Given the description of an element on the screen output the (x, y) to click on. 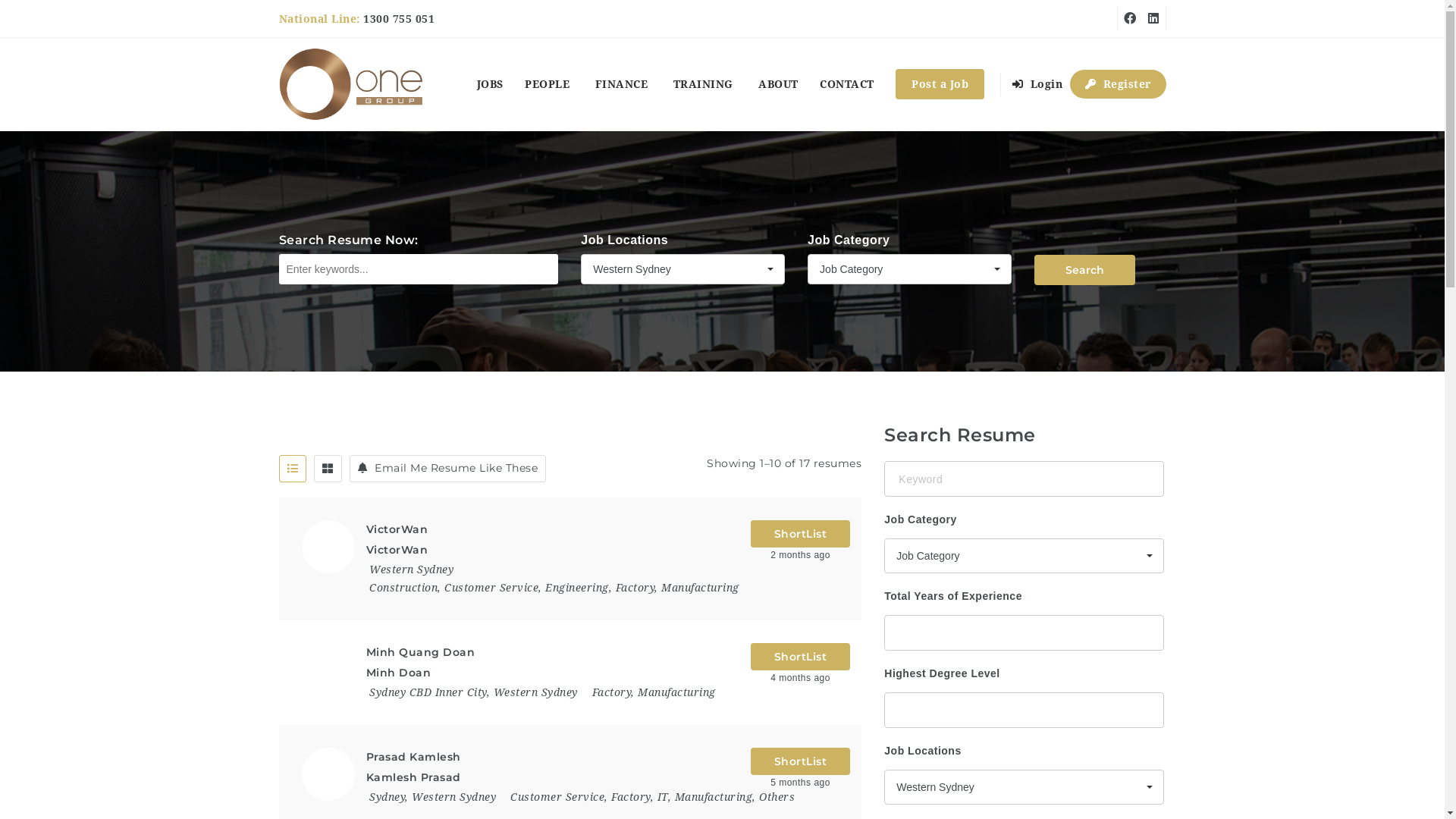
PEOPLE Element type: text (548, 83)
Kamlesh Prasad Element type: text (412, 777)
Western Sydney Element type: text (682, 269)
Others Element type: text (776, 796)
Factory Element type: text (610, 692)
ShortList Element type: text (800, 761)
IT Element type: text (661, 796)
Construction Element type: text (403, 587)
FINANCE Element type: text (622, 83)
VictorWan Element type: text (396, 529)
JOBS Element type: text (489, 83)
Engineering Element type: text (576, 587)
Post a Job Element type: text (939, 84)
People | Finance | Training Element type: hover (351, 83)
Factory Element type: text (630, 796)
Manufacturing Element type: text (713, 796)
Job Category Element type: text (909, 269)
CONTACT Element type: text (846, 83)
TRAINING Element type: text (705, 83)
Manufacturing Element type: text (676, 692)
Western Sydney Element type: text (1024, 786)
Manufacturing Element type: text (700, 587)
Job Category Element type: text (1024, 555)
Factory Element type: text (635, 587)
Sydney Element type: text (386, 796)
ShortList Element type: text (800, 656)
VictorWan Element type: text (396, 549)
Customer Service Element type: text (557, 796)
Western Sydney Element type: text (534, 692)
Minh Doan Element type: text (397, 672)
Search Element type: text (1084, 269)
Prasad Kamlesh Element type: text (412, 756)
 Register Element type: text (1117, 83)
Minh Quang Doan Element type: text (419, 651)
ABOUT Element type: text (778, 83)
Western Sydney Element type: text (411, 569)
Sydney CBD Inner City Element type: text (427, 692)
Customer Service Element type: text (491, 587)
ShortList Element type: text (800, 533)
 Login Element type: text (1038, 83)
Western Sydney Element type: text (453, 796)
